Given the description of an element on the screen output the (x, y) to click on. 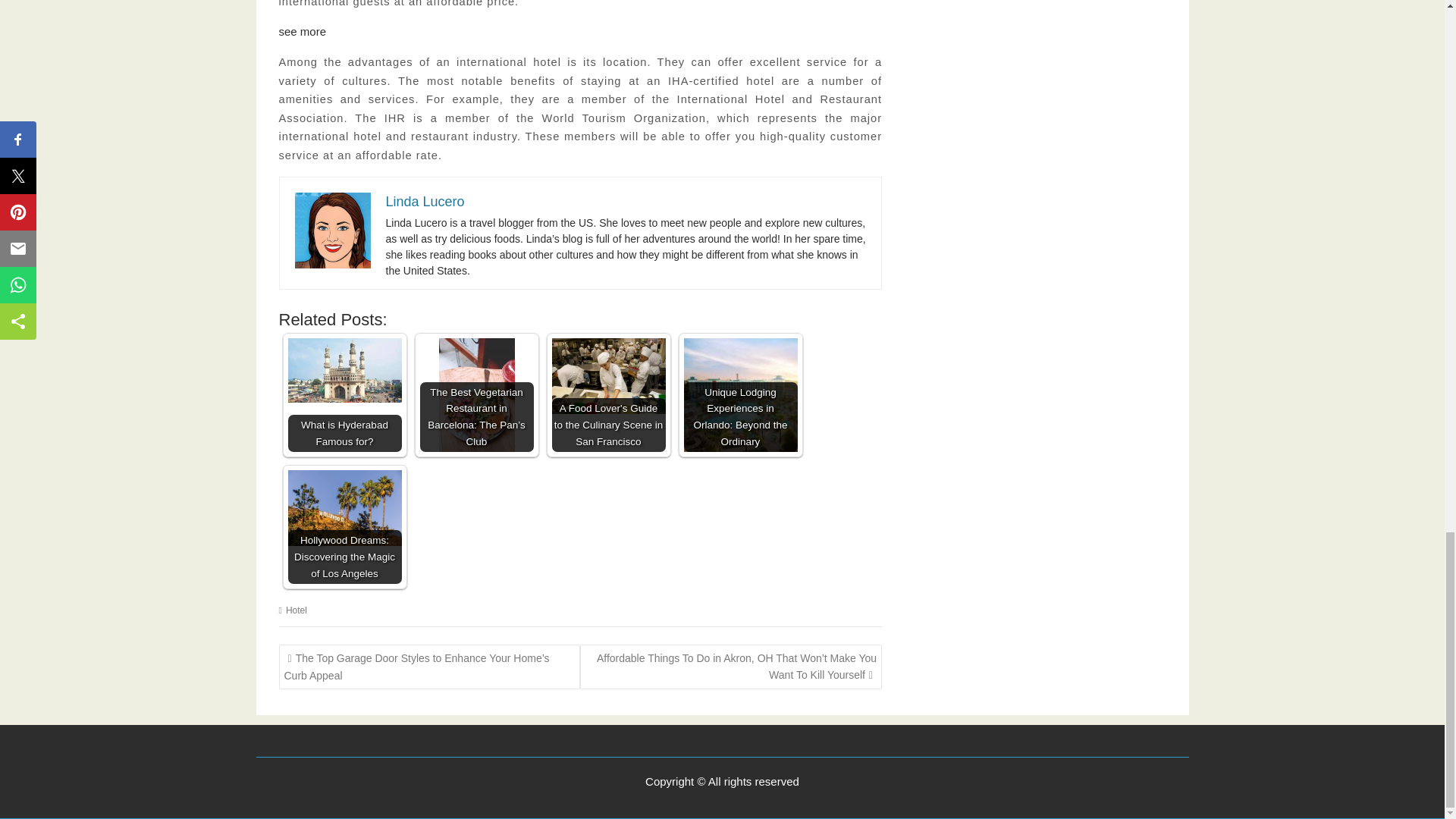
What is Hyderabad Famous for? (344, 370)
A Food Lover's Guide to the Culinary Scene in San Francisco (608, 376)
Hollywood Dreams: Discovering the Magic of Los Angeles (344, 508)
Unique Lodging Experiences in Orlando: Beyond the Ordinary (740, 395)
Linda Lucero (331, 230)
